Given the description of an element on the screen output the (x, y) to click on. 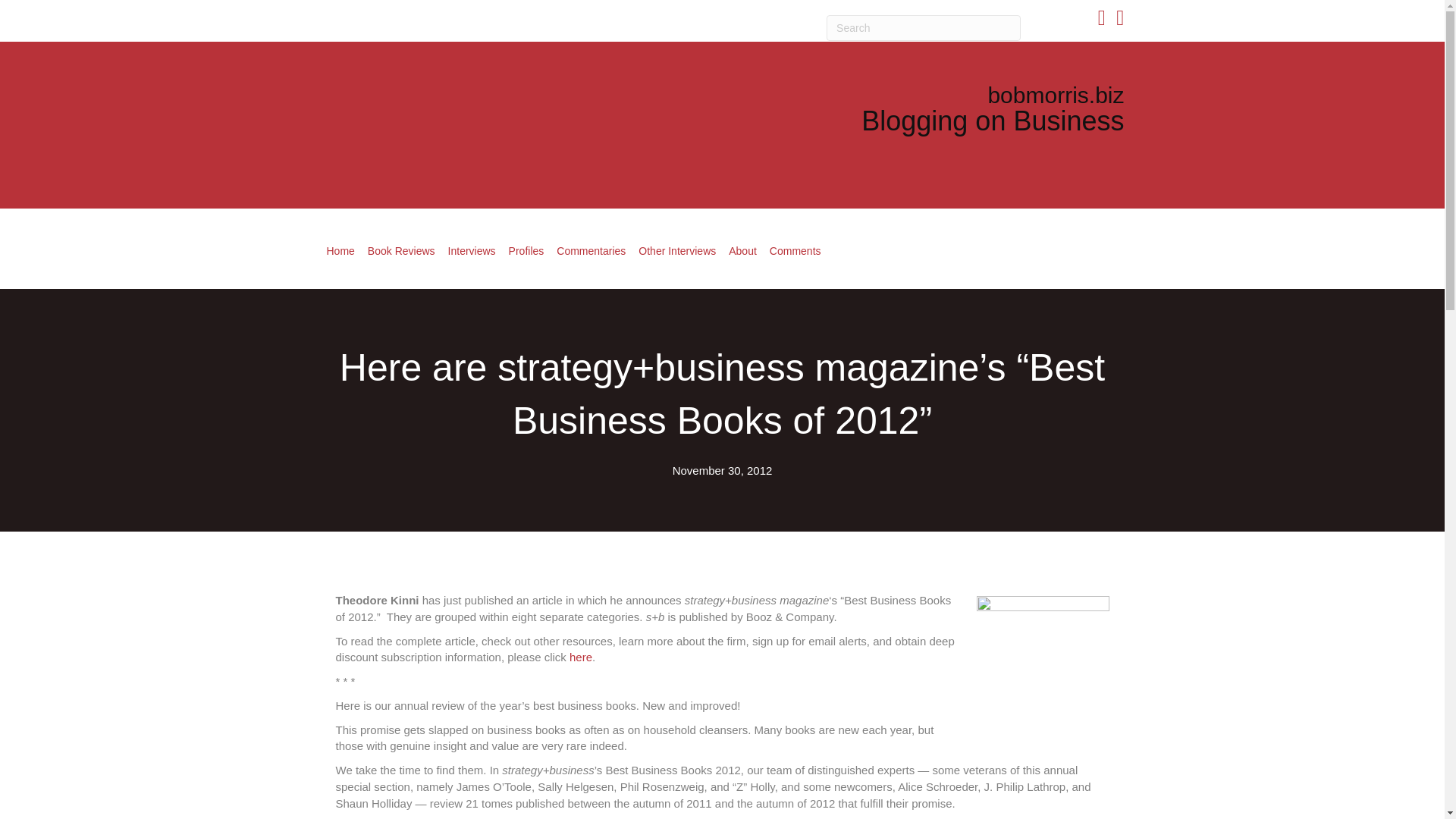
About (742, 250)
Home (339, 250)
here (580, 656)
Commentaries (590, 250)
bobmorris.biz (1055, 94)
Type and press Enter to search. (923, 27)
Other Interviews (676, 250)
Blogging on Business (992, 120)
Profiles (526, 250)
Blogging on Business (992, 120)
Interviews (472, 250)
Comments (794, 250)
bobmorris.biz (1055, 94)
Book Reviews (401, 250)
